Given the description of an element on the screen output the (x, y) to click on. 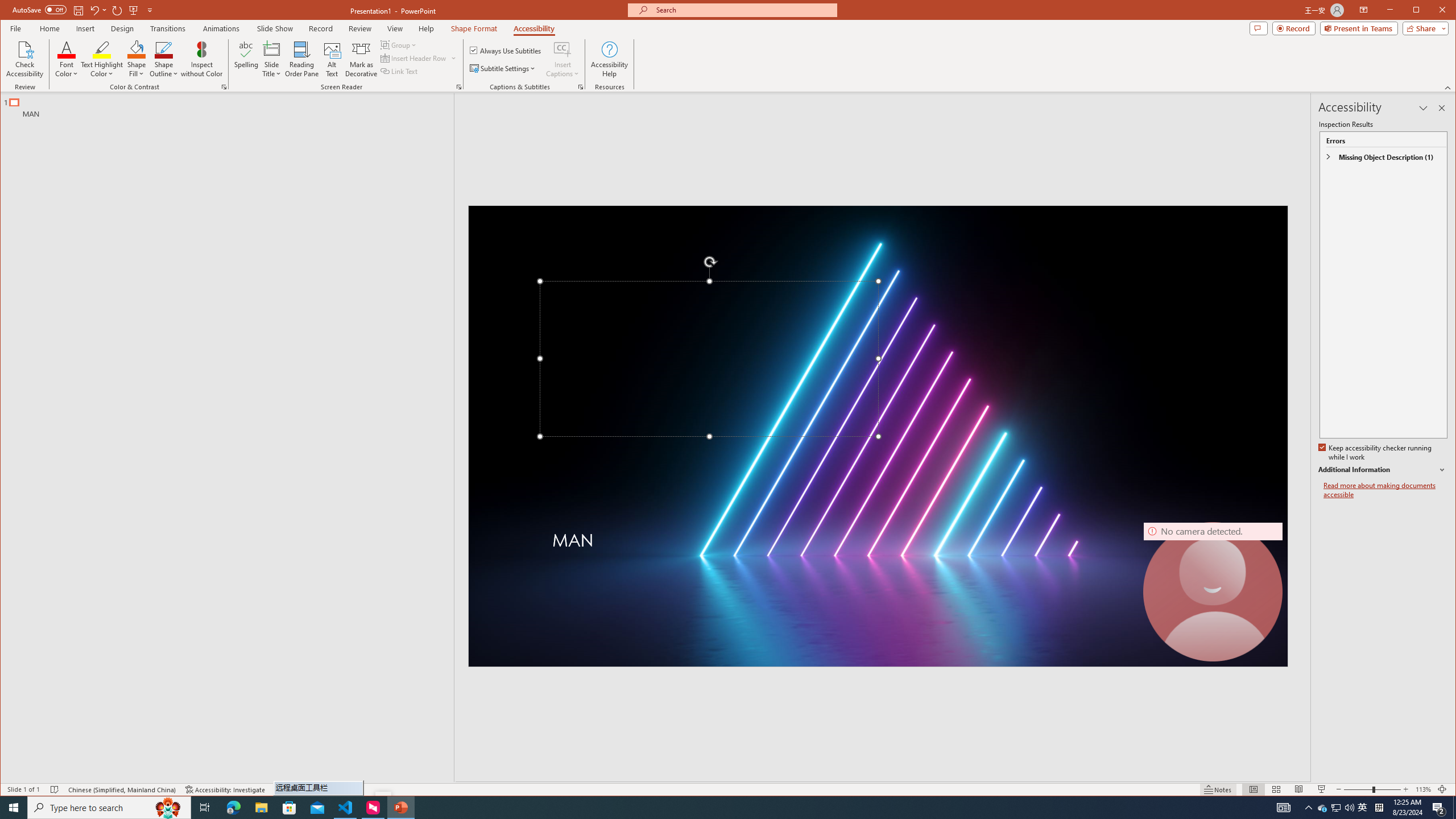
Text Highlight Color No Color (102, 48)
Inspect without Color (201, 59)
Link Text (399, 70)
Slide Title (271, 59)
Always Use Subtitles (505, 49)
